Given the description of an element on the screen output the (x, y) to click on. 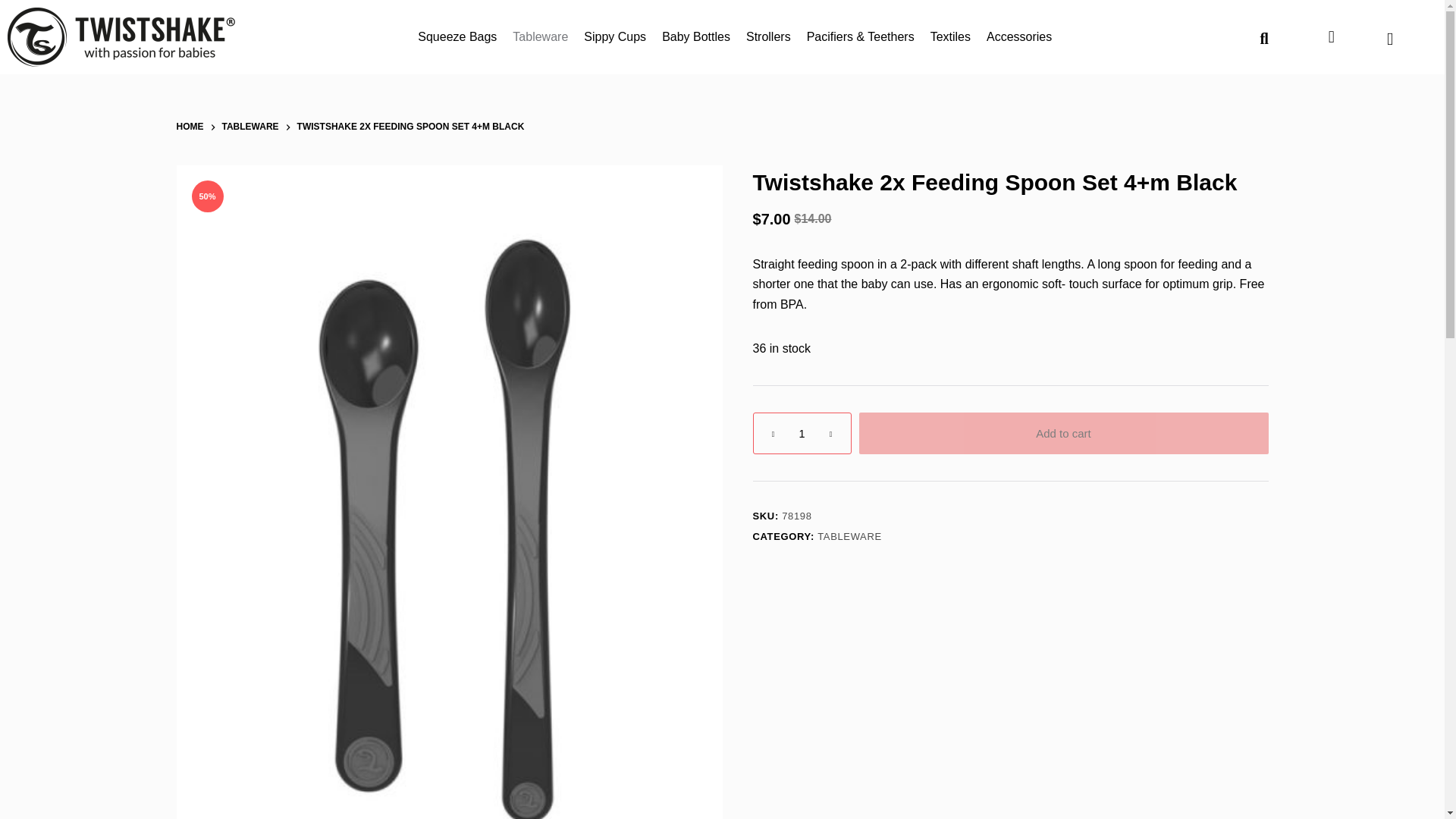
Squeeze Bags (456, 36)
Skip to content (15, 7)
Strollers (768, 36)
Tableware (540, 36)
Textiles (949, 36)
Sippy Cups (614, 36)
Accessories (1018, 36)
Baby Bottles (695, 36)
1 (801, 433)
